Given the description of an element on the screen output the (x, y) to click on. 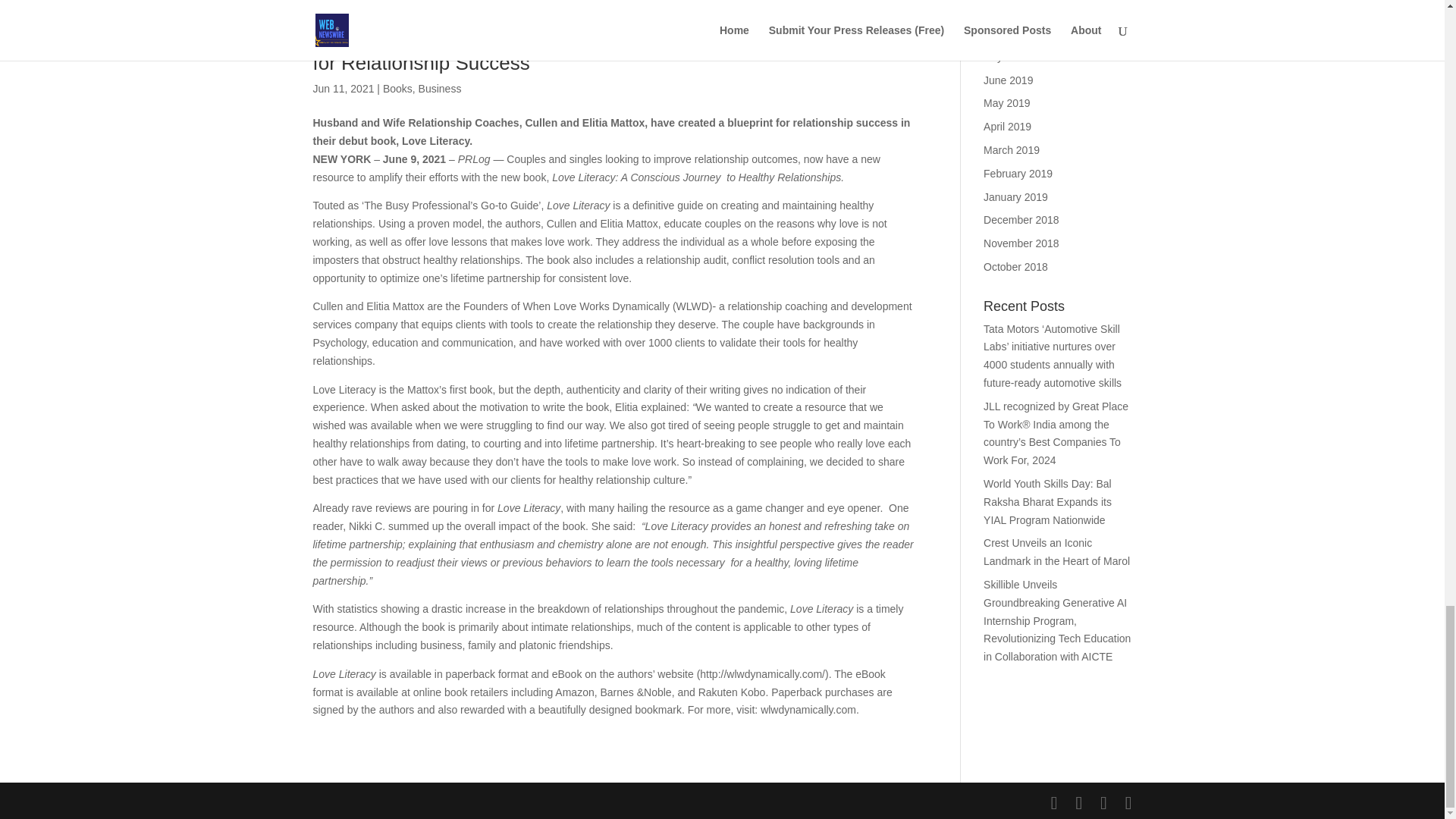
Business (440, 88)
Books (397, 88)
